Given the description of an element on the screen output the (x, y) to click on. 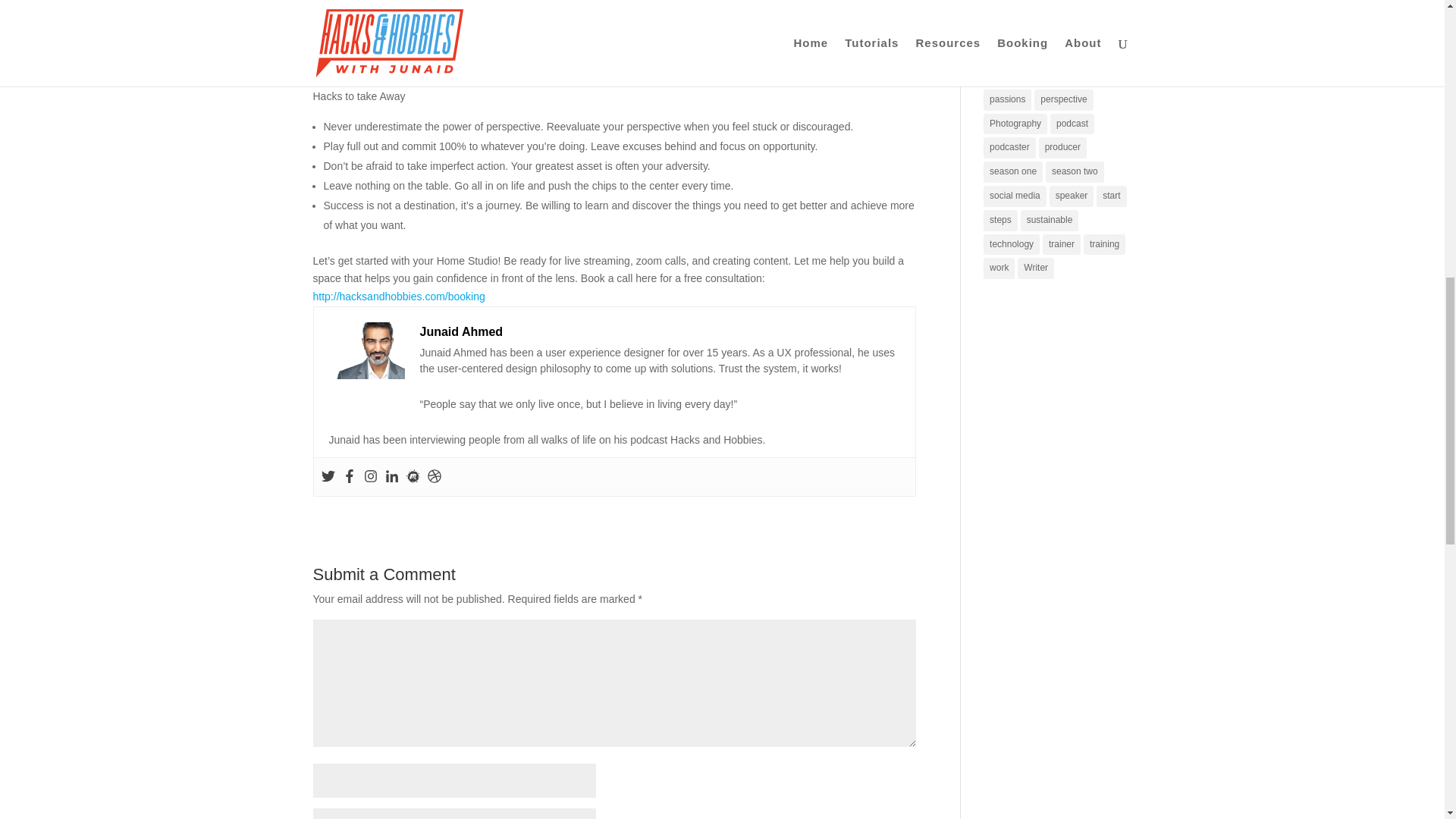
Facebook (349, 476)
Junaid Ahmed (461, 331)
Instagram (370, 476)
Meetup (413, 476)
Linkedin (391, 476)
Twitter (327, 476)
Dribbble (434, 476)
